Given the description of an element on the screen output the (x, y) to click on. 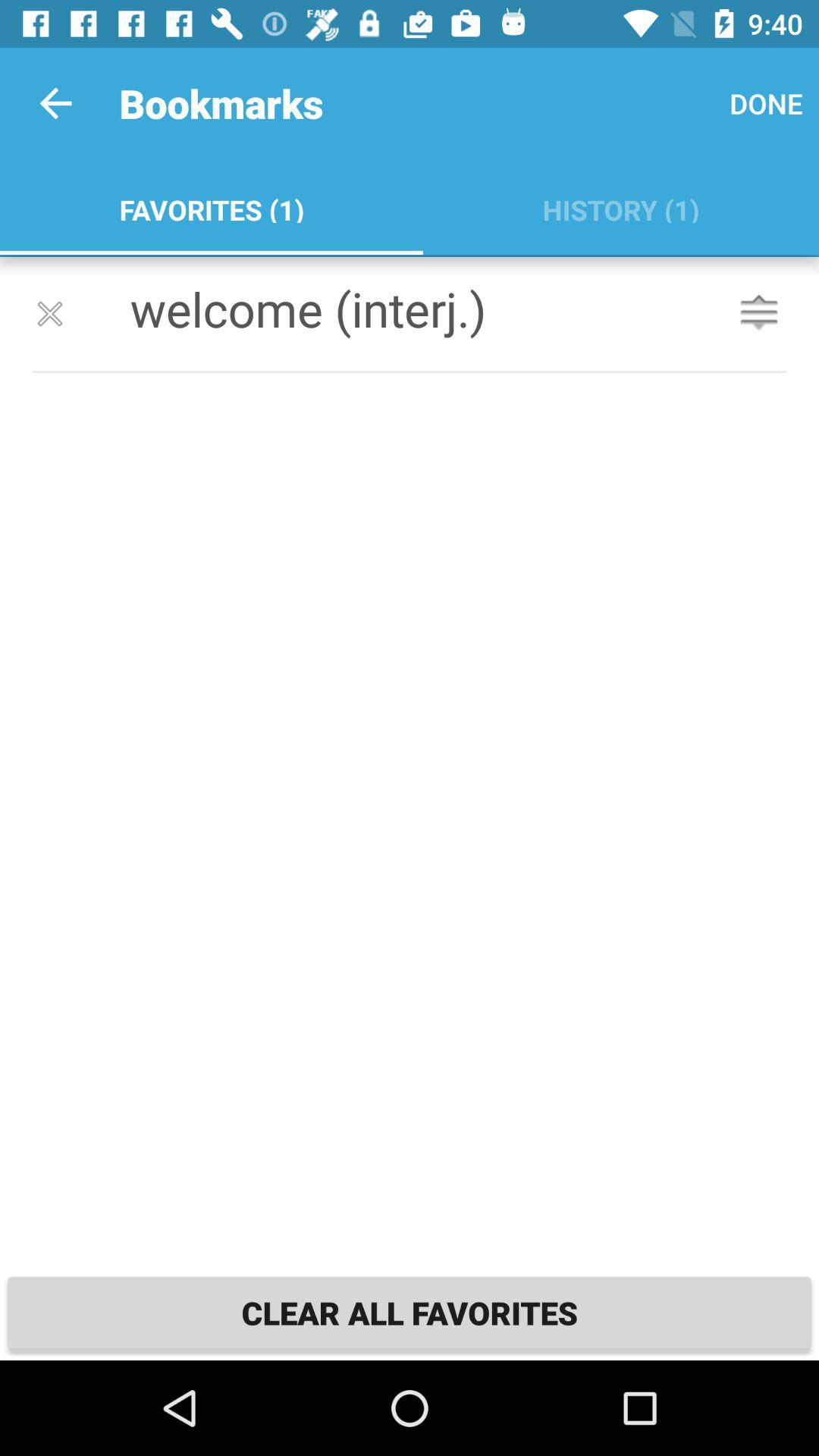
click app next to the favorites (1) (621, 206)
